Given the description of an element on the screen output the (x, y) to click on. 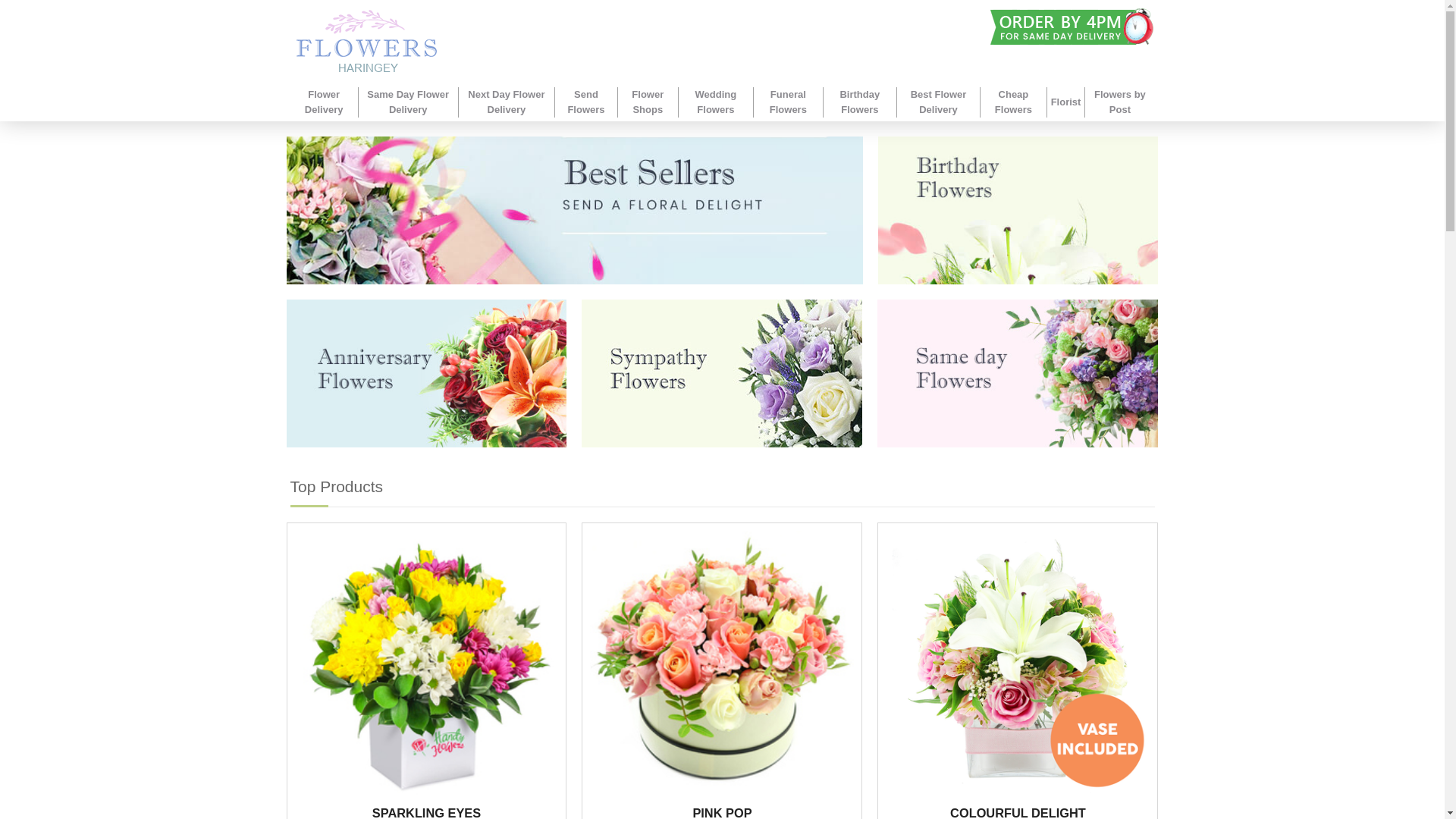
Haringey Same day Flowers (1017, 373)
Flower Delivery (323, 101)
Haringey Sympathy Flowers (720, 373)
Cheap Flowers (1013, 101)
Next Day Flower Delivery (507, 101)
Wedding Flowers (715, 101)
Funeral Flowers (787, 101)
Birthday Flowers Haringey (1017, 210)
Flower Shops (647, 101)
Best Flower Delivery (938, 101)
Send Flowers (585, 101)
Birthday Flowers (859, 101)
Best Sellers Haringey (574, 210)
Anniversary Flowers Haringey (426, 373)
Florist (1066, 102)
